Given the description of an element on the screen output the (x, y) to click on. 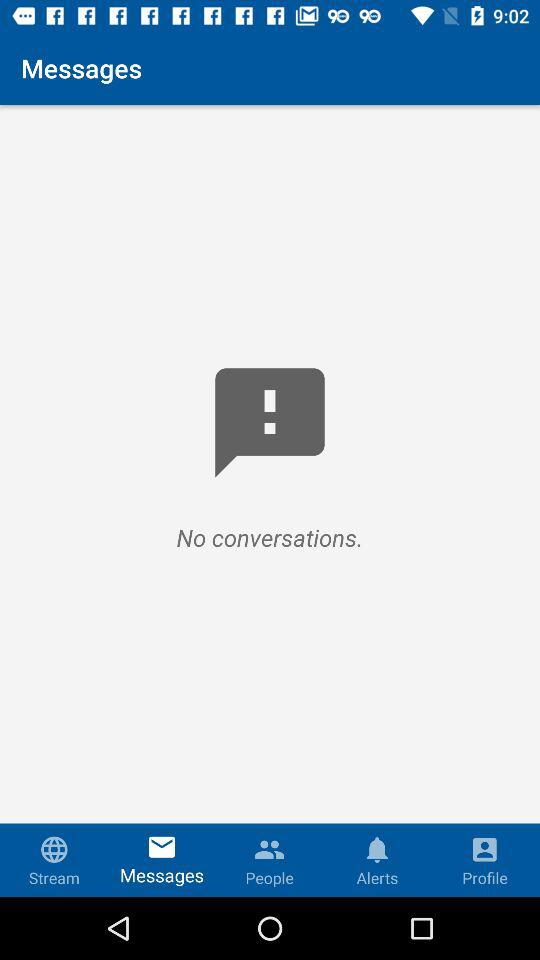
press the icon below messages (270, 500)
